Given the description of an element on the screen output the (x, y) to click on. 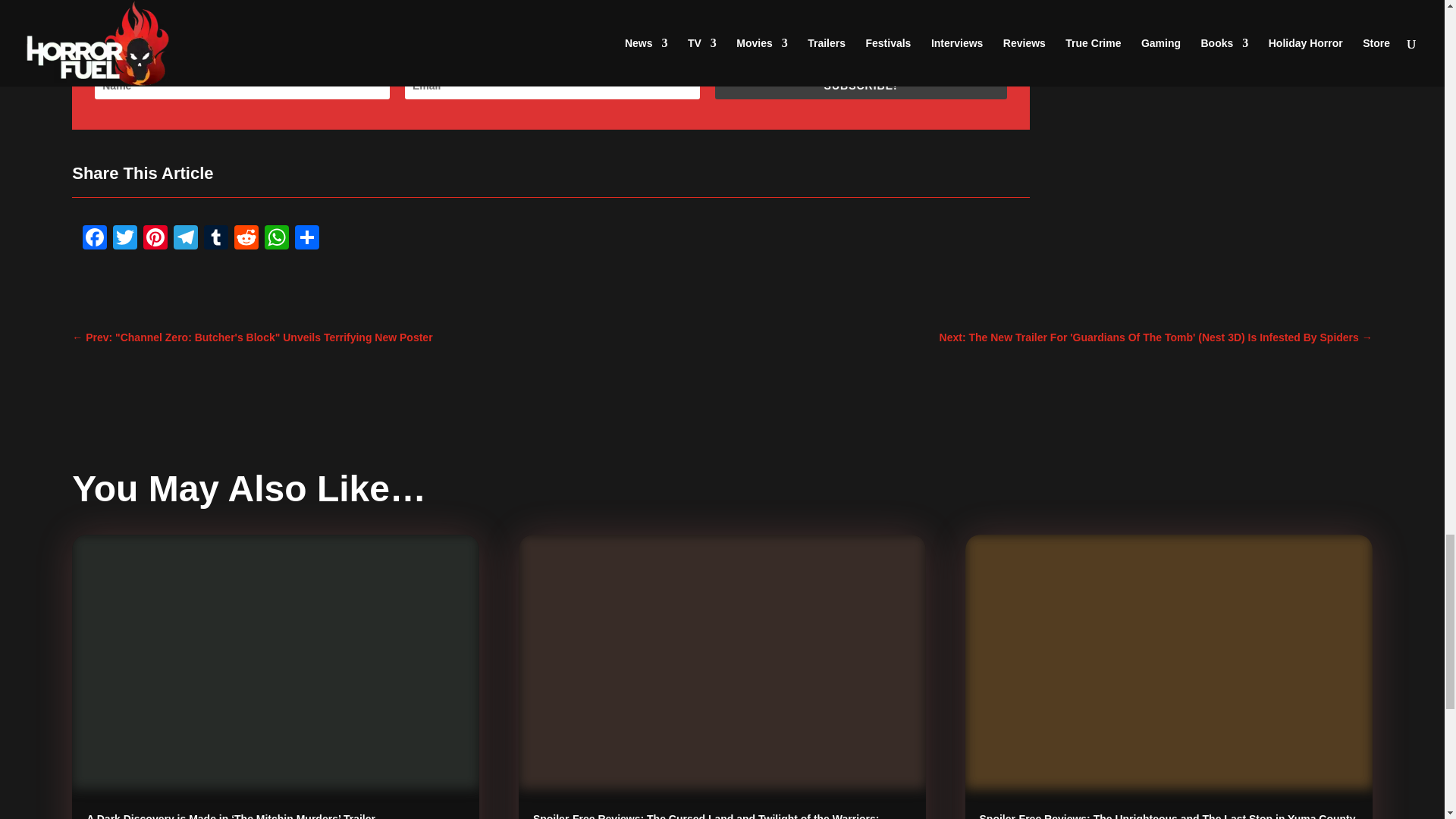
Twitter (124, 240)
Facebook (95, 240)
